Given the description of an element on the screen output the (x, y) to click on. 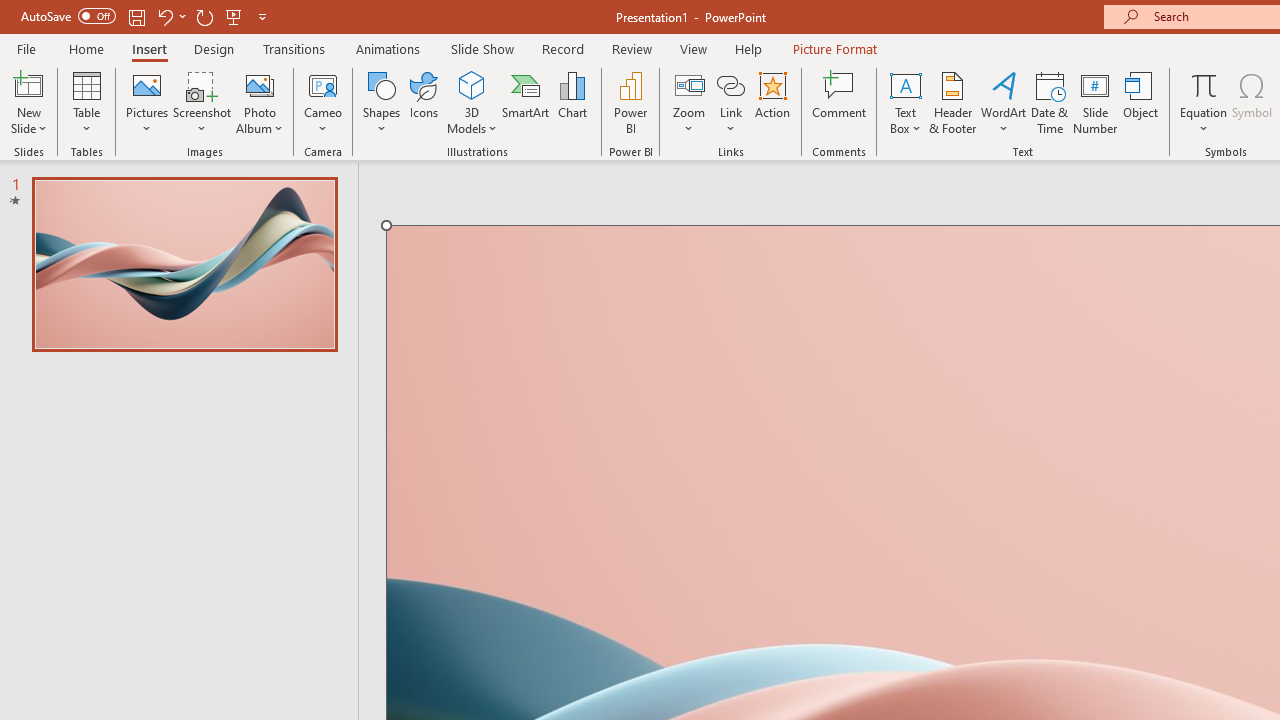
Comment (839, 102)
WordArt (1004, 102)
Header & Footer... (952, 102)
Link (731, 84)
3D Models (472, 84)
Link (731, 102)
Photo Album... (259, 102)
Table (86, 102)
